Given the description of an element on the screen output the (x, y) to click on. 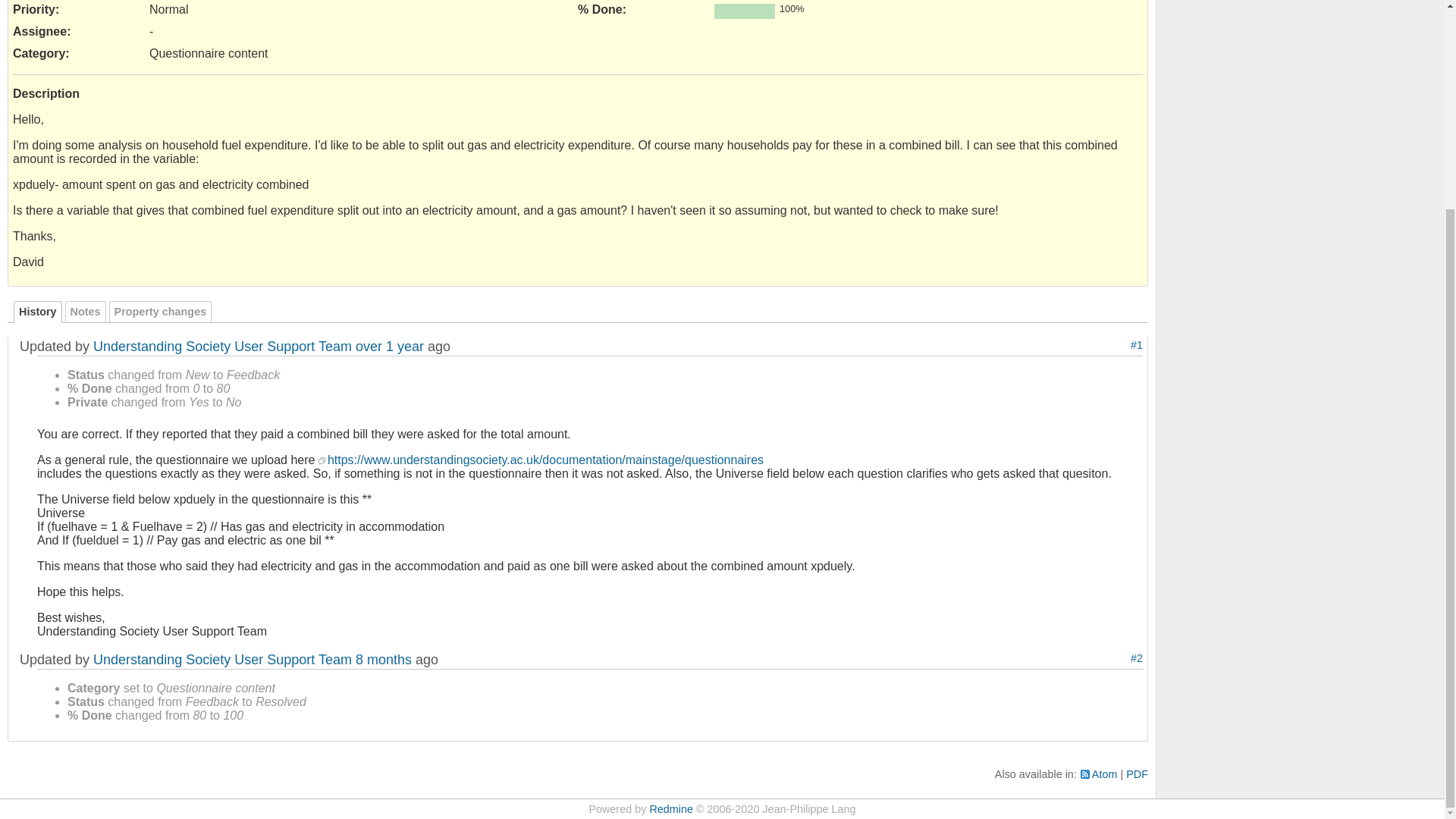
Atom (1099, 774)
Understanding Society User Support Team (222, 659)
Notes (85, 311)
Redmine (671, 808)
Property changes (160, 311)
History (37, 311)
over 1 year (389, 346)
PDF (1136, 774)
Understanding Society User Support Team (222, 346)
8 months (383, 659)
